Given the description of an element on the screen output the (x, y) to click on. 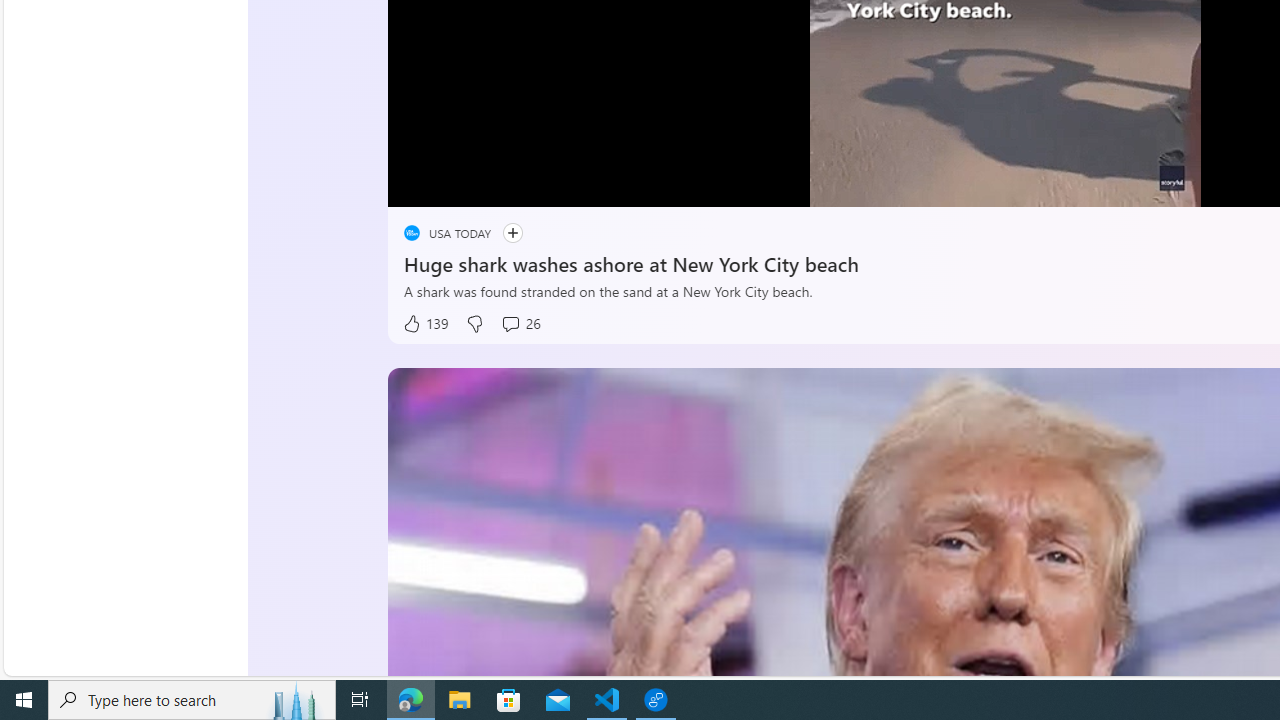
Pause (417, 185)
Seek Forward (497, 185)
Follow (503, 233)
Dislike (473, 324)
View comments 26 Comment (520, 324)
Seek Back (457, 185)
placeholder USA TODAY (447, 232)
placeholder (411, 232)
To get missing image descriptions, open the context menu. (458, 182)
139 Like (425, 324)
